Given the description of an element on the screen output the (x, y) to click on. 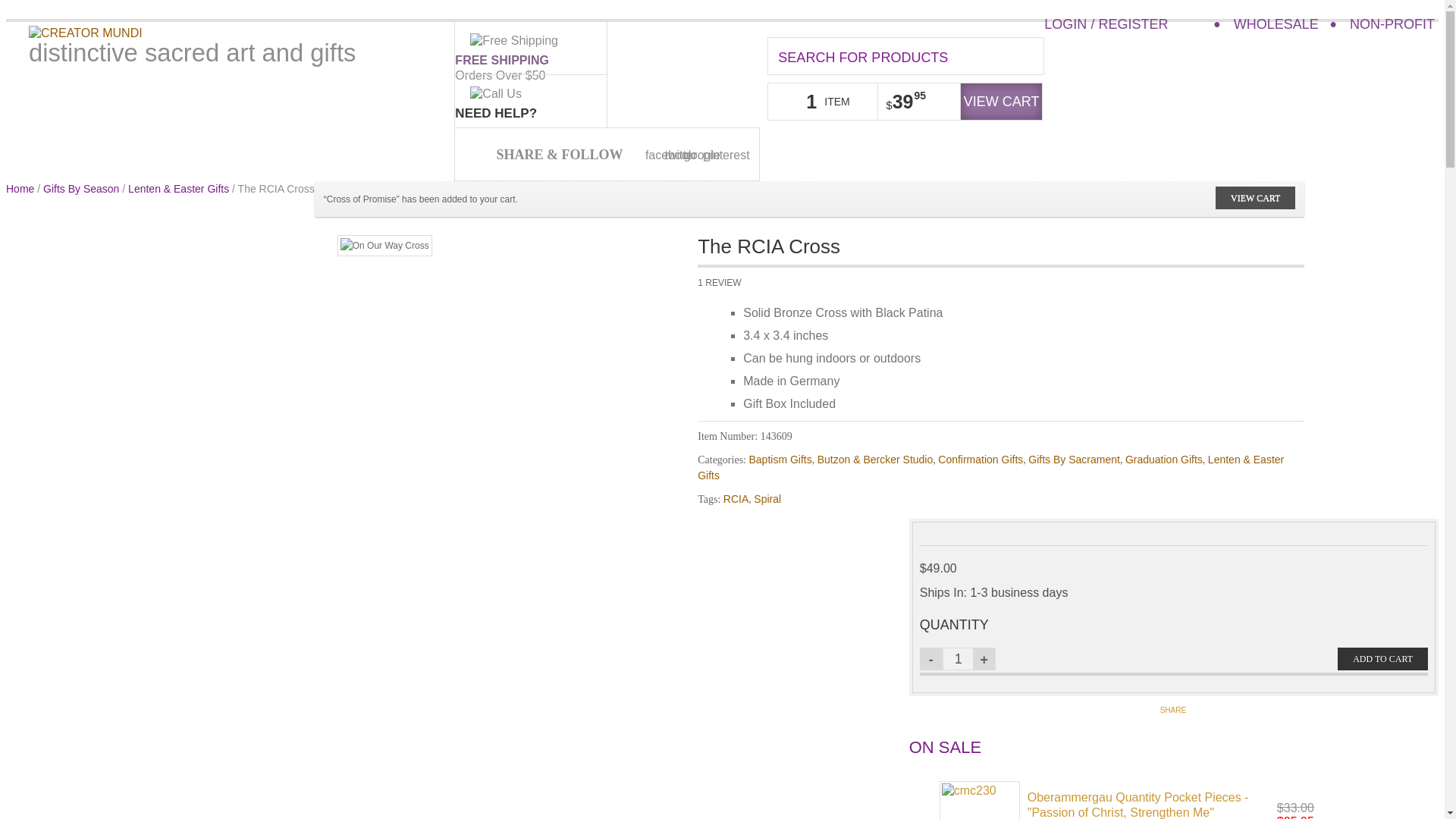
- (931, 658)
Creator Mundi (85, 32)
FREE SHIPPING (501, 60)
VIEW CART (1001, 101)
Rated 5.00 out of 5 (1279, 280)
Qty (958, 658)
On Our Way Cross 1 (384, 245)
Creator Mundi (85, 32)
1 (958, 658)
WHOLESALE (1276, 23)
